Given the description of an element on the screen output the (x, y) to click on. 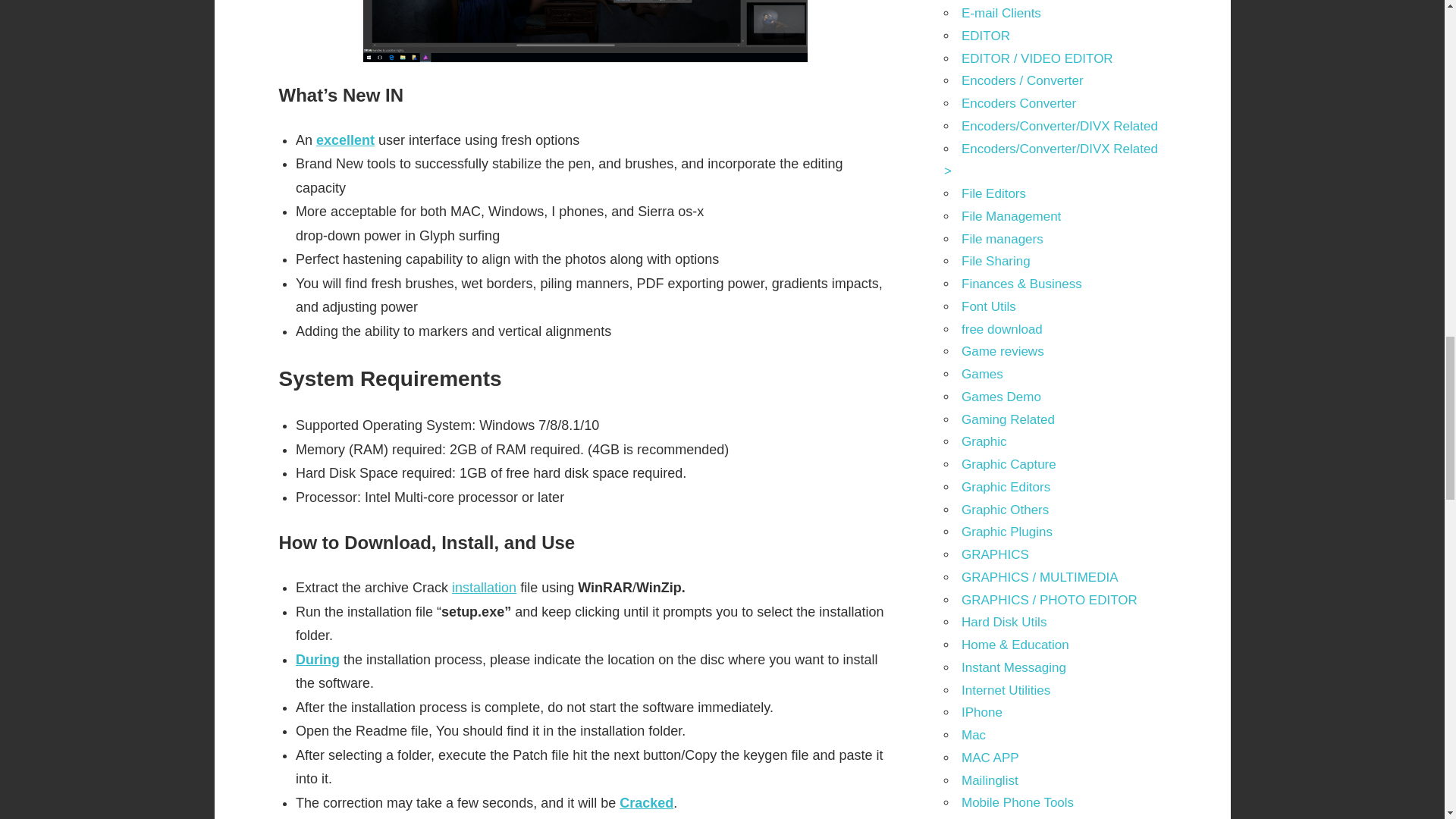
Cracked (646, 801)
excellent (344, 140)
installation (483, 587)
During (317, 659)
